Given the description of an element on the screen output the (x, y) to click on. 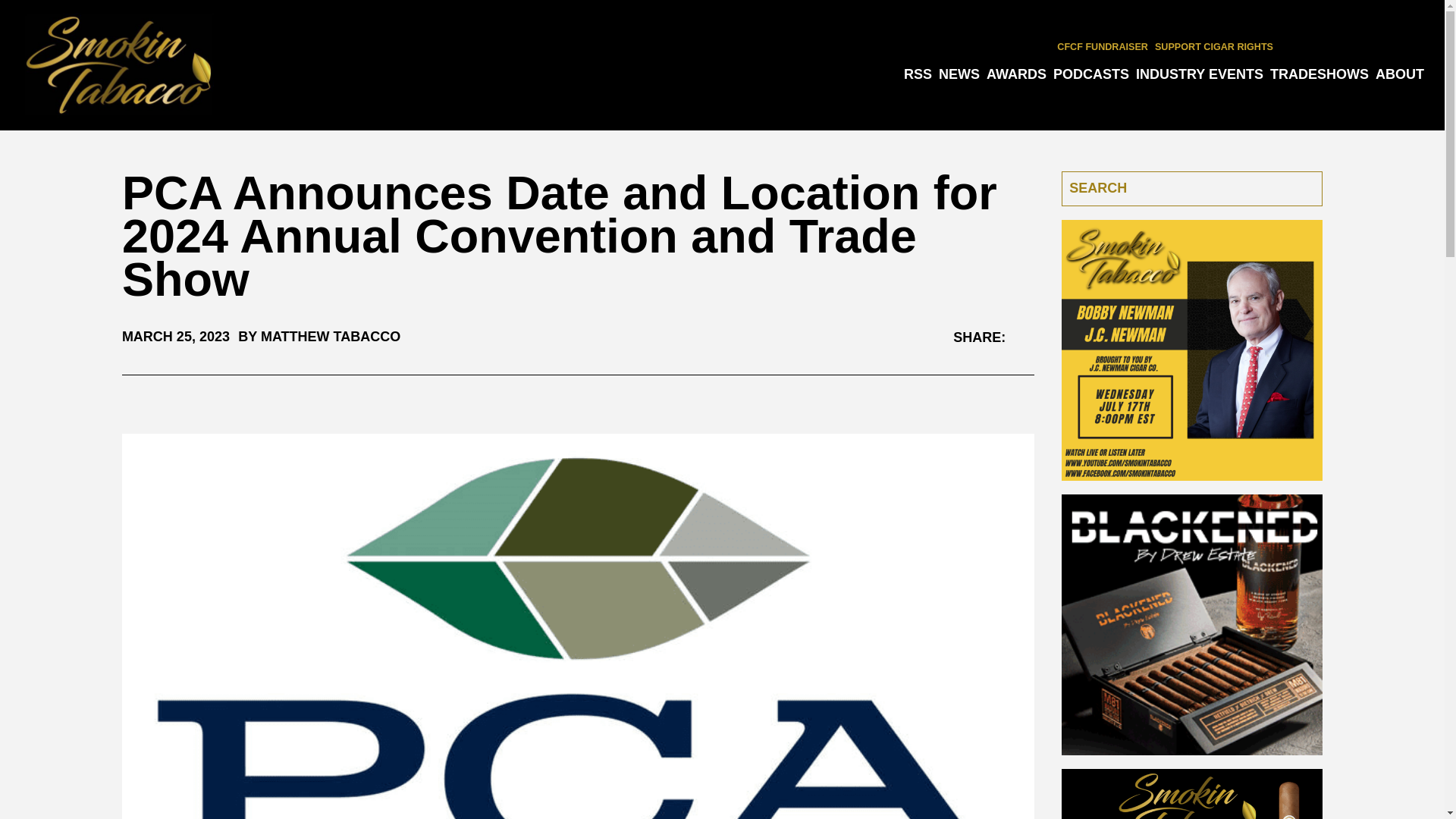
RSS (917, 73)
AWARDS (1016, 73)
SUPPORT CIGAR RIGHTS (1213, 46)
ABOUT (1399, 73)
PODCASTS (1090, 73)
NEWS (959, 73)
Smokin Tabacco (118, 64)
INDUSTRY EVENTS (1199, 73)
TRADESHOWS (1318, 73)
CFCF FUNDRAISER (1102, 46)
